Given the description of an element on the screen output the (x, y) to click on. 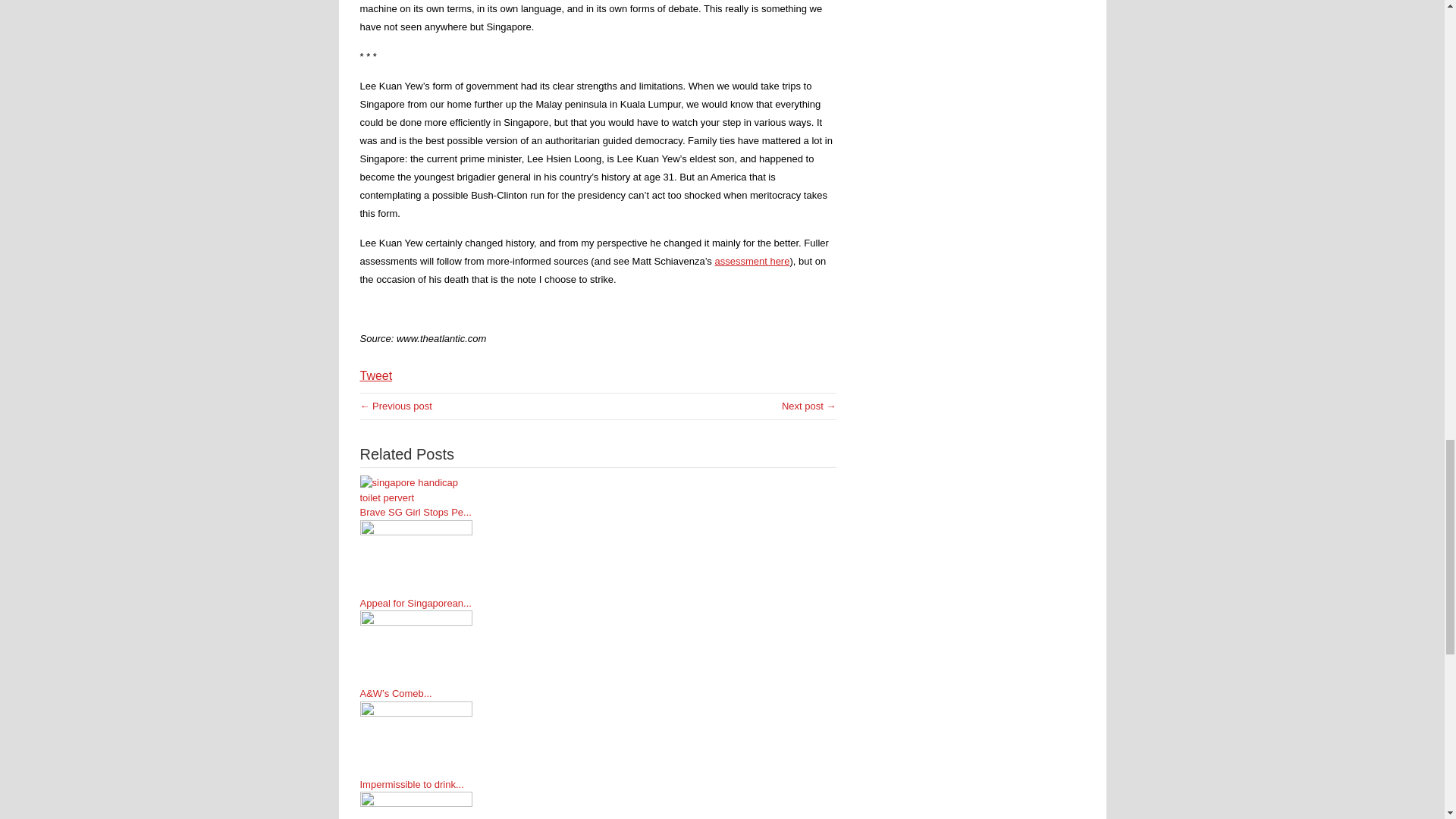
Tweet (375, 375)
Brave SG Girl Stops Pe... (415, 512)
assessment here (751, 260)
Appeal for Singaporean... (415, 603)
Impermissible to drink... (415, 784)
Singapore Inc: A Lee Kuan Yew Legacy (808, 405)
